Given the description of an element on the screen output the (x, y) to click on. 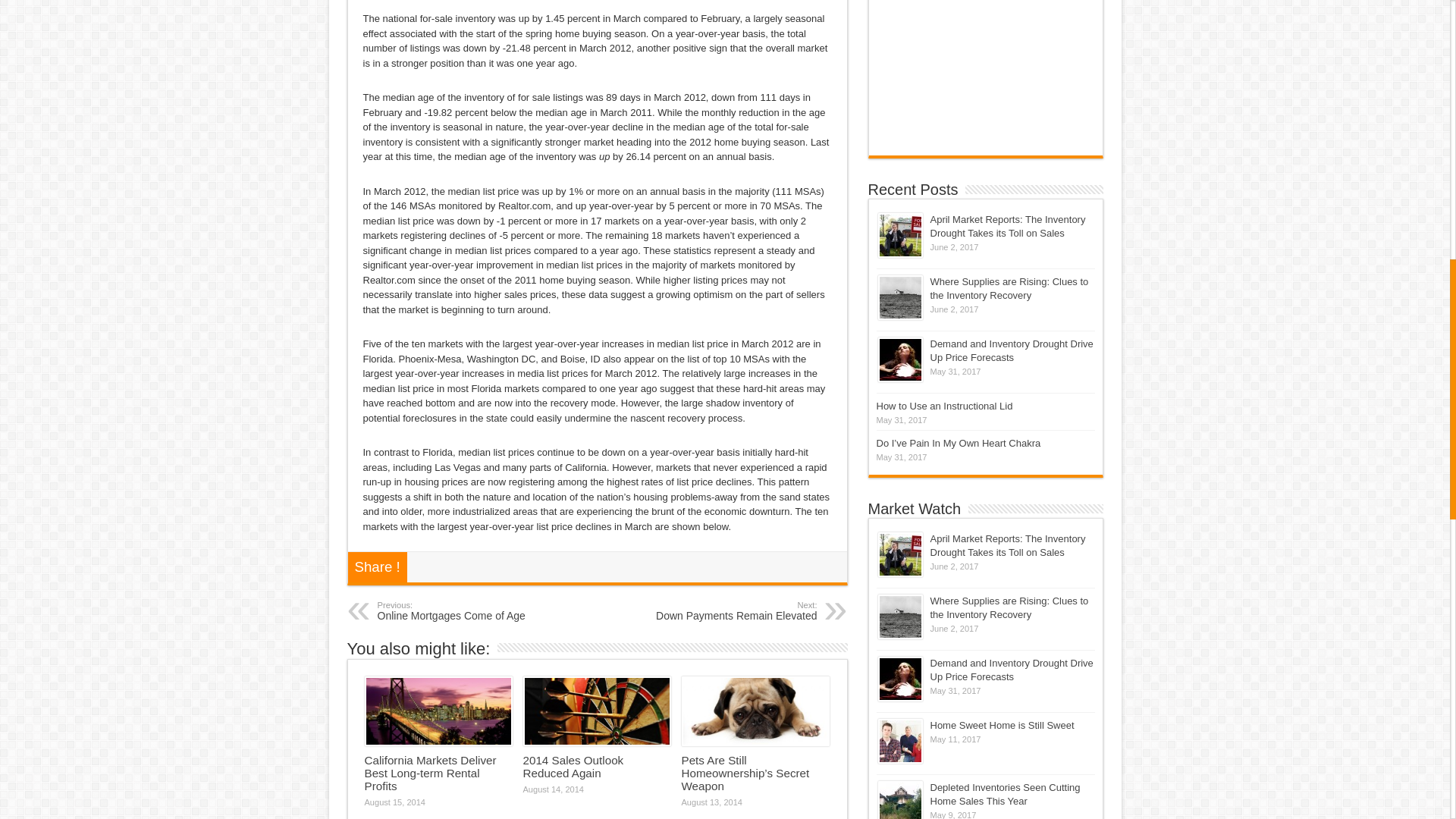
Permalink to 2014 Sales Outlook Reduced Again (573, 766)
Permalink to 2014 Sales Outlook Reduced Again (596, 711)
